Given the description of an element on the screen output the (x, y) to click on. 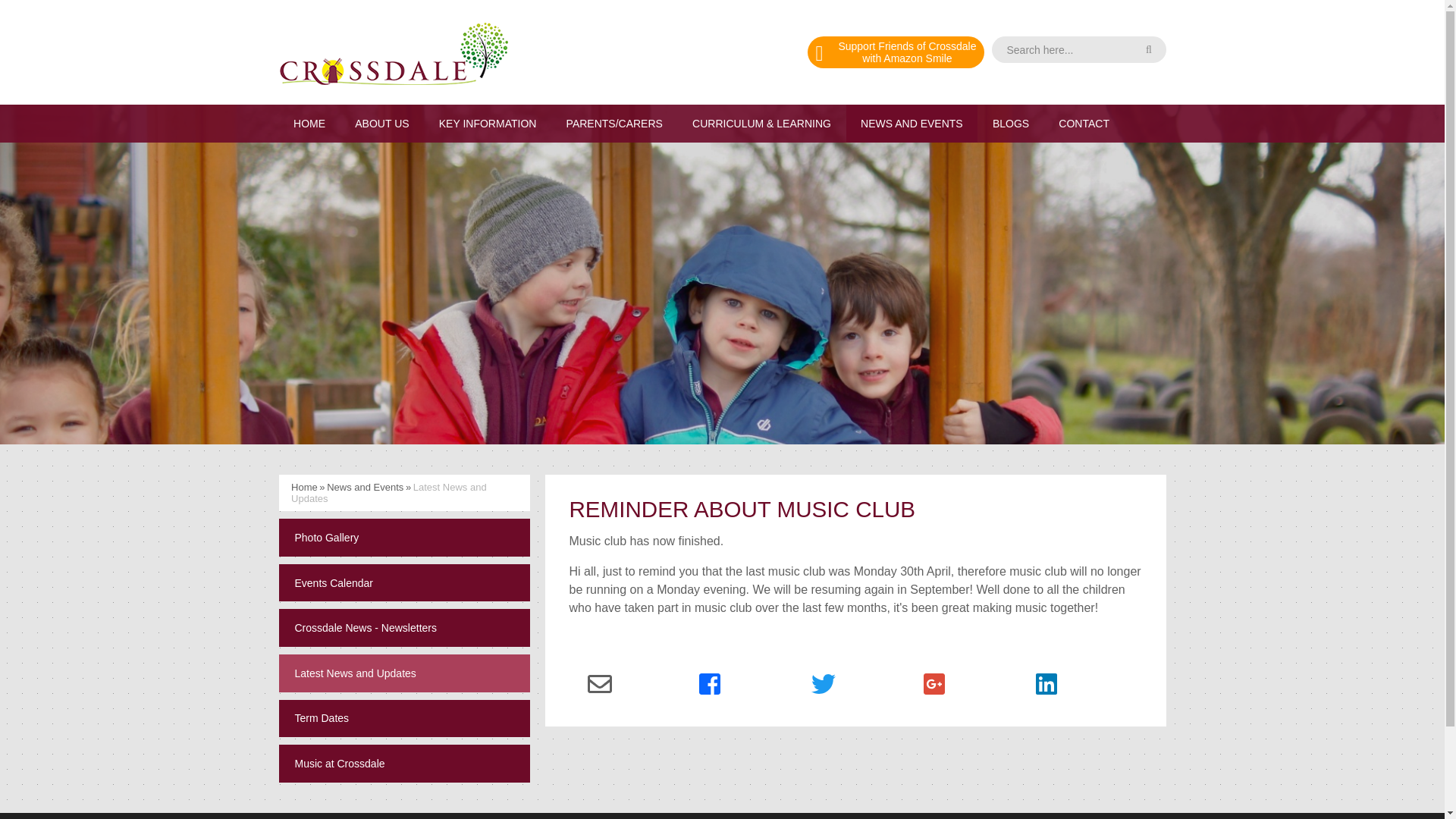
Search here... (1078, 49)
KEY INFORMATION (487, 123)
search... (896, 51)
ABOUT US (1078, 49)
HOME (382, 123)
